Given the description of an element on the screen output the (x, y) to click on. 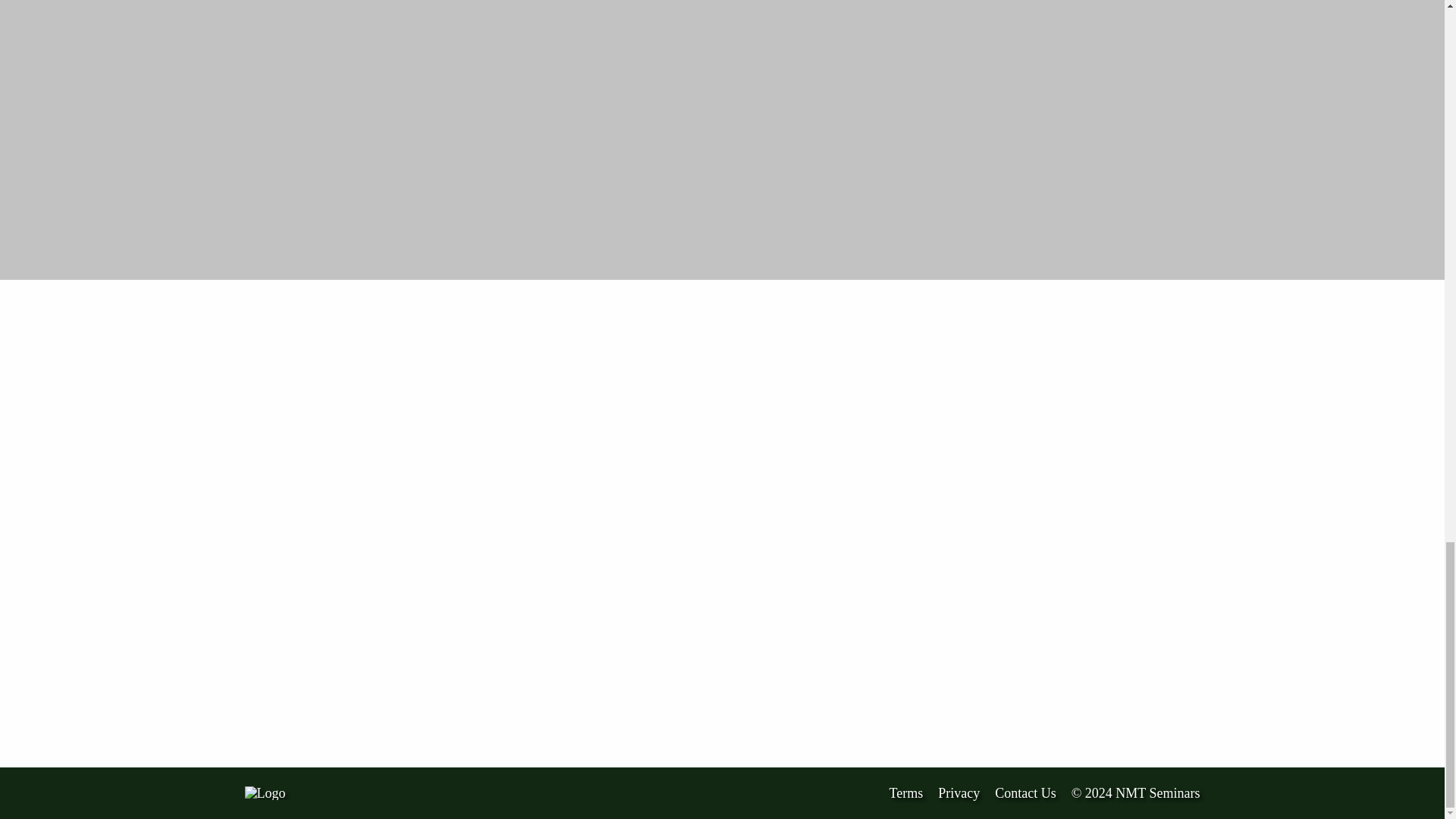
Privacy (958, 793)
Terms (905, 793)
Contact Us (1025, 793)
